Given the description of an element on the screen output the (x, y) to click on. 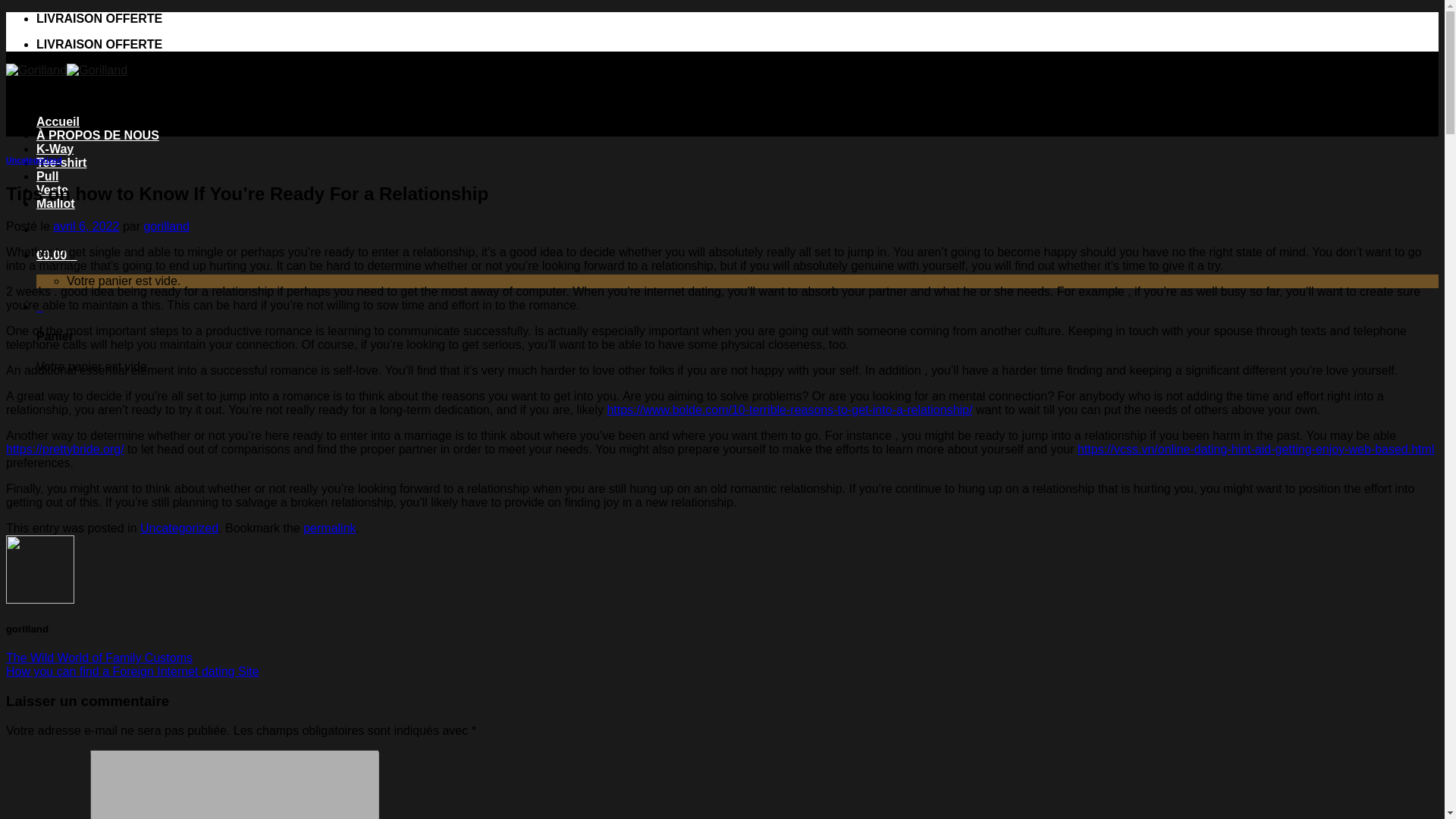
Accueil (58, 121)
Uncategorized (178, 527)
gorilland (165, 226)
avril 6, 2022 (85, 226)
permalink (328, 527)
Pull (47, 175)
Maillot (55, 203)
The Wild World of Family Customs (98, 657)
Veste (52, 189)
